Given the description of an element on the screen output the (x, y) to click on. 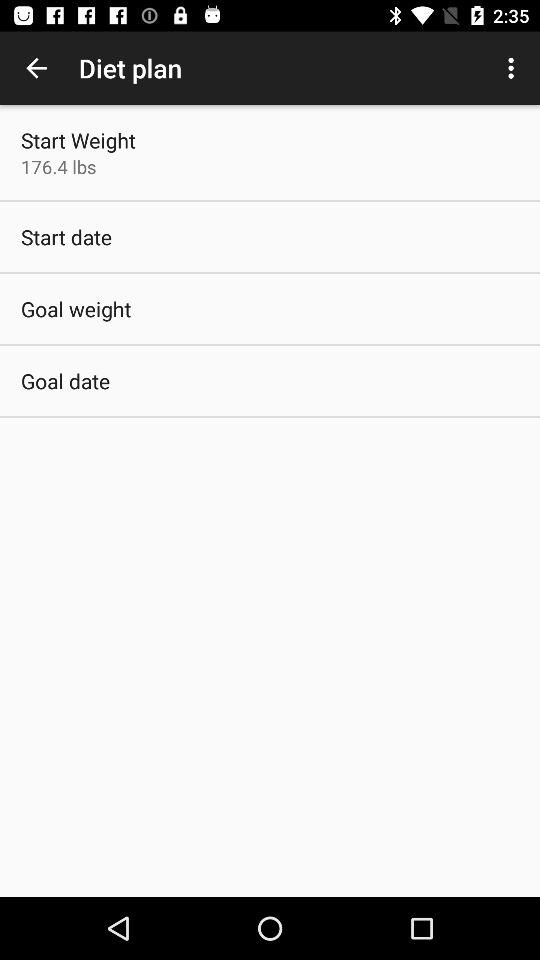
open goal date item (65, 380)
